Given the description of an element on the screen output the (x, y) to click on. 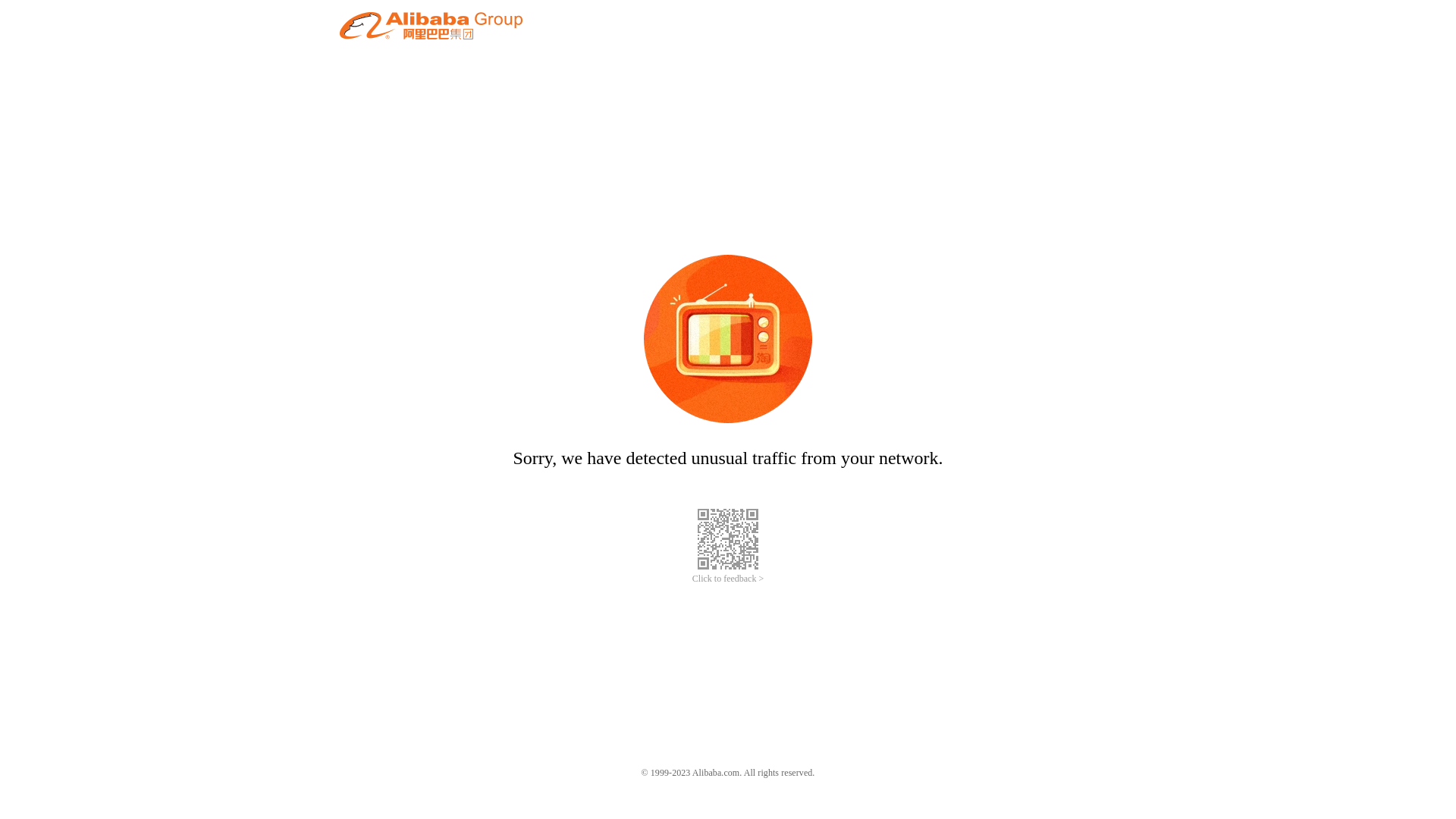
Click to feedback > Element type: text (727, 578)
